Given the description of an element on the screen output the (x, y) to click on. 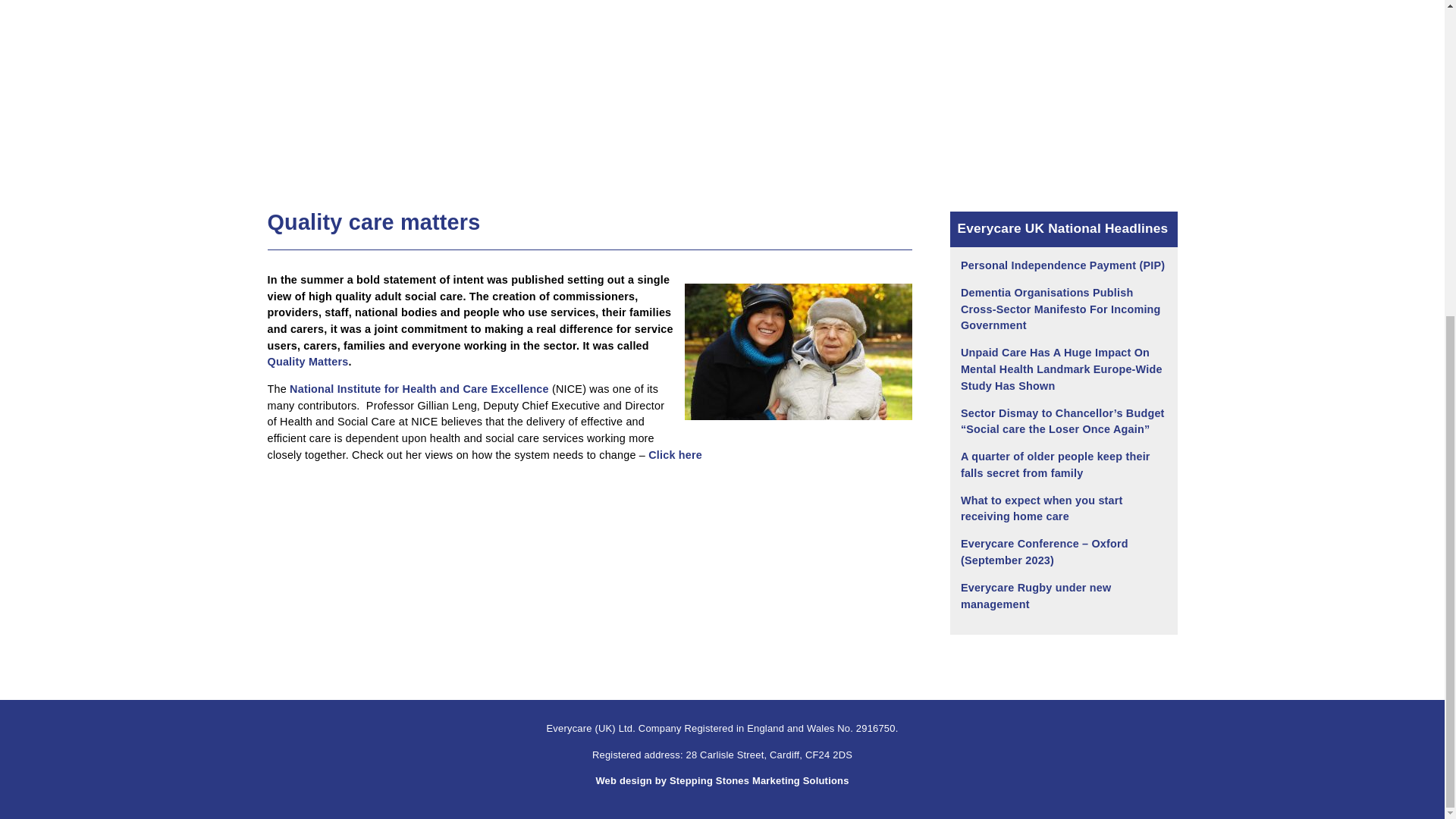
Click here (674, 454)
What to expect when you start receiving home care (1041, 508)
Web Designers (721, 780)
Quality Matters (306, 361)
National Institute for Health and Care Excellence (418, 388)
Web design by Stepping Stones Marketing Solutions (721, 780)
Everycare Rugby under new management (1036, 595)
